Given the description of an element on the screen output the (x, y) to click on. 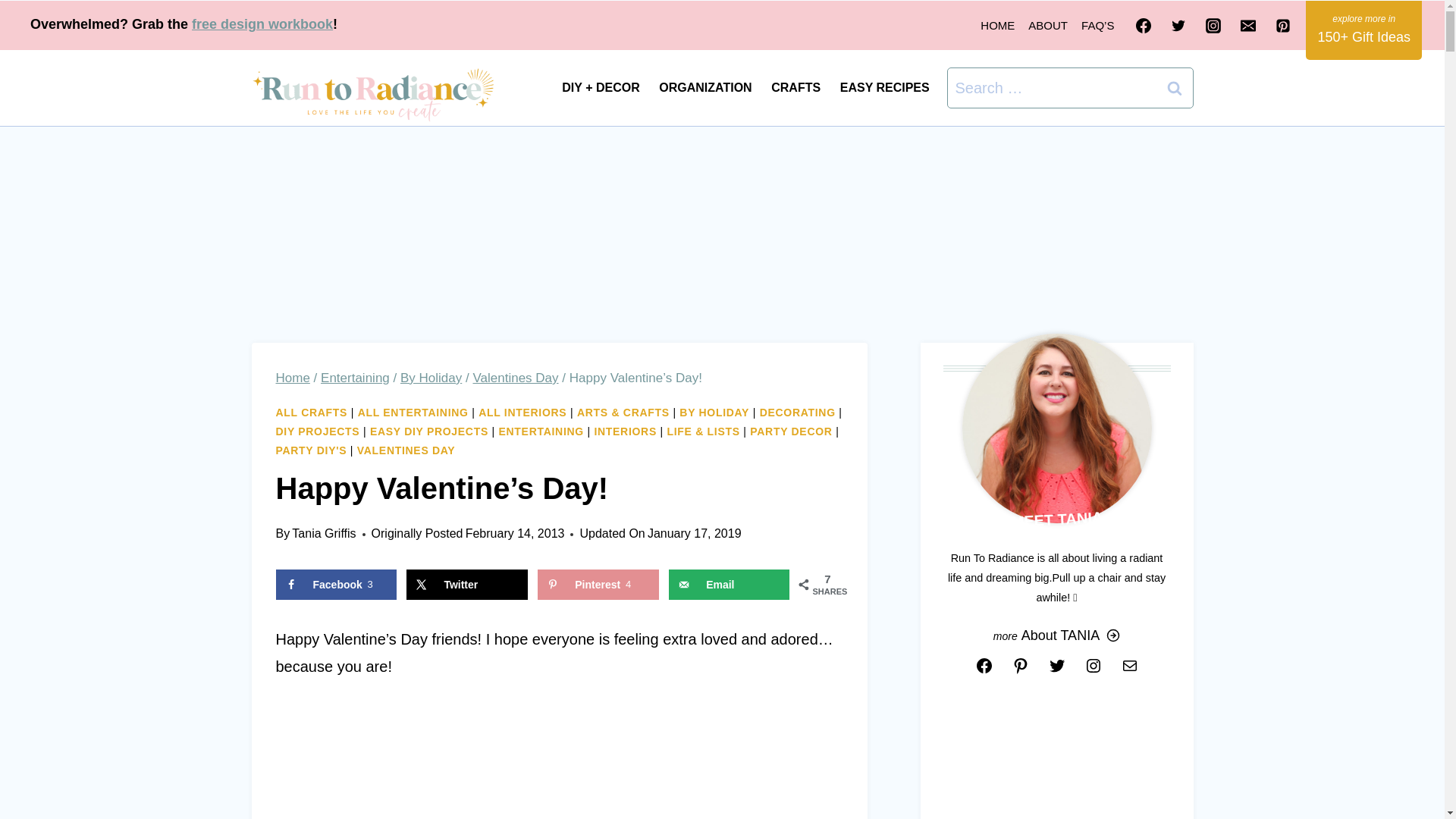
By Holiday (430, 377)
Save to Pinterest (597, 584)
ALL INTERIORS (522, 412)
Share on X (466, 584)
INTERIORS (625, 431)
PARTY DIY'S (311, 450)
BY HOLIDAY (714, 412)
ALL CRAFTS (311, 412)
ORGANIZATION (705, 87)
DIY PROJECTS (317, 431)
